Given the description of an element on the screen output the (x, y) to click on. 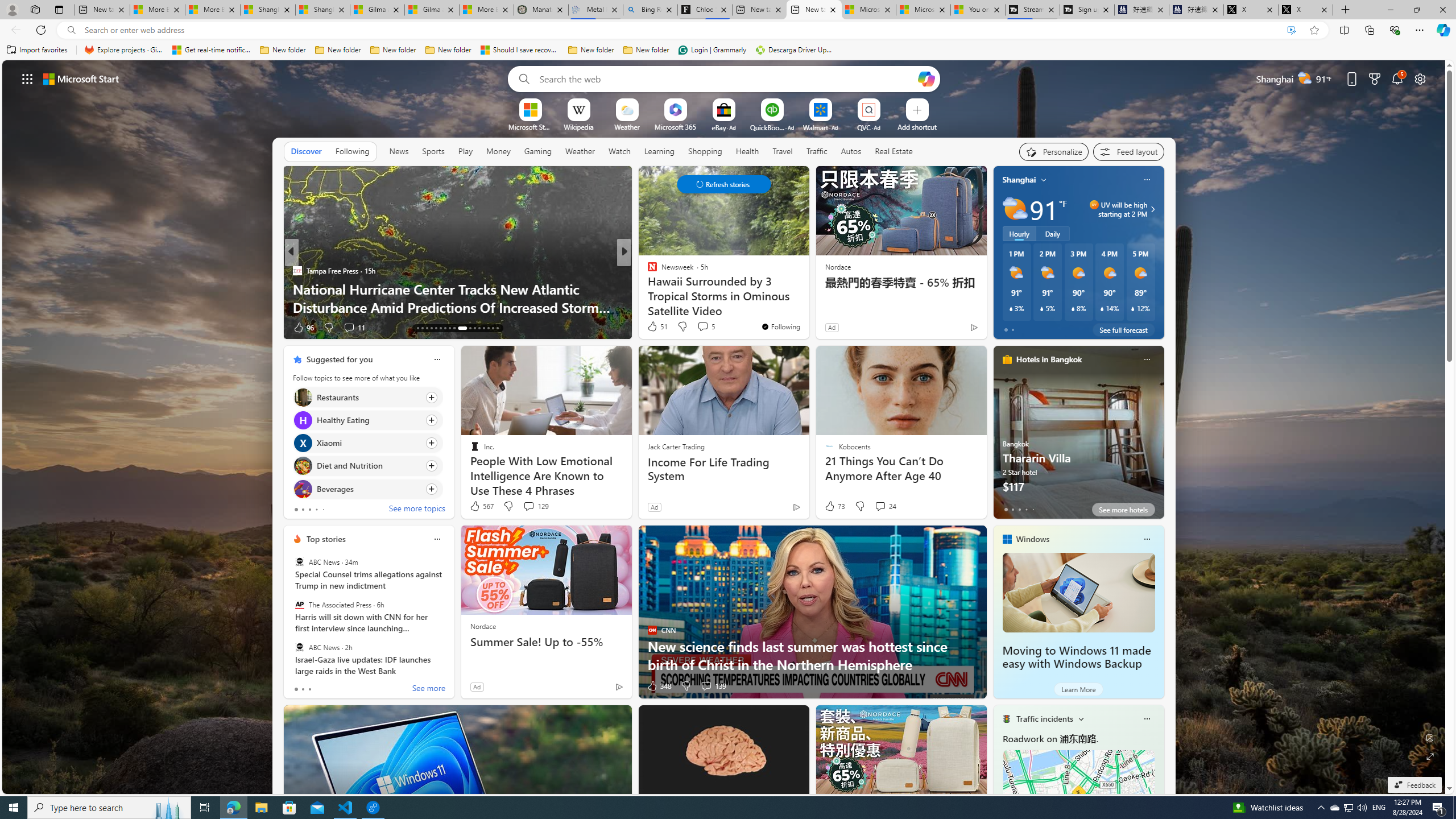
7 Like (651, 327)
Click to follow topic Diet and Nutrition (367, 465)
You're following Newsweek (780, 326)
View comments 139 Comment (712, 685)
Chloe Sorvino (704, 9)
Click to follow topic Restaurants (367, 397)
AutomationID: tab-31 (488, 328)
AutomationID: tab-28 (474, 328)
51 Like (657, 326)
